Given the description of an element on the screen output the (x, y) to click on. 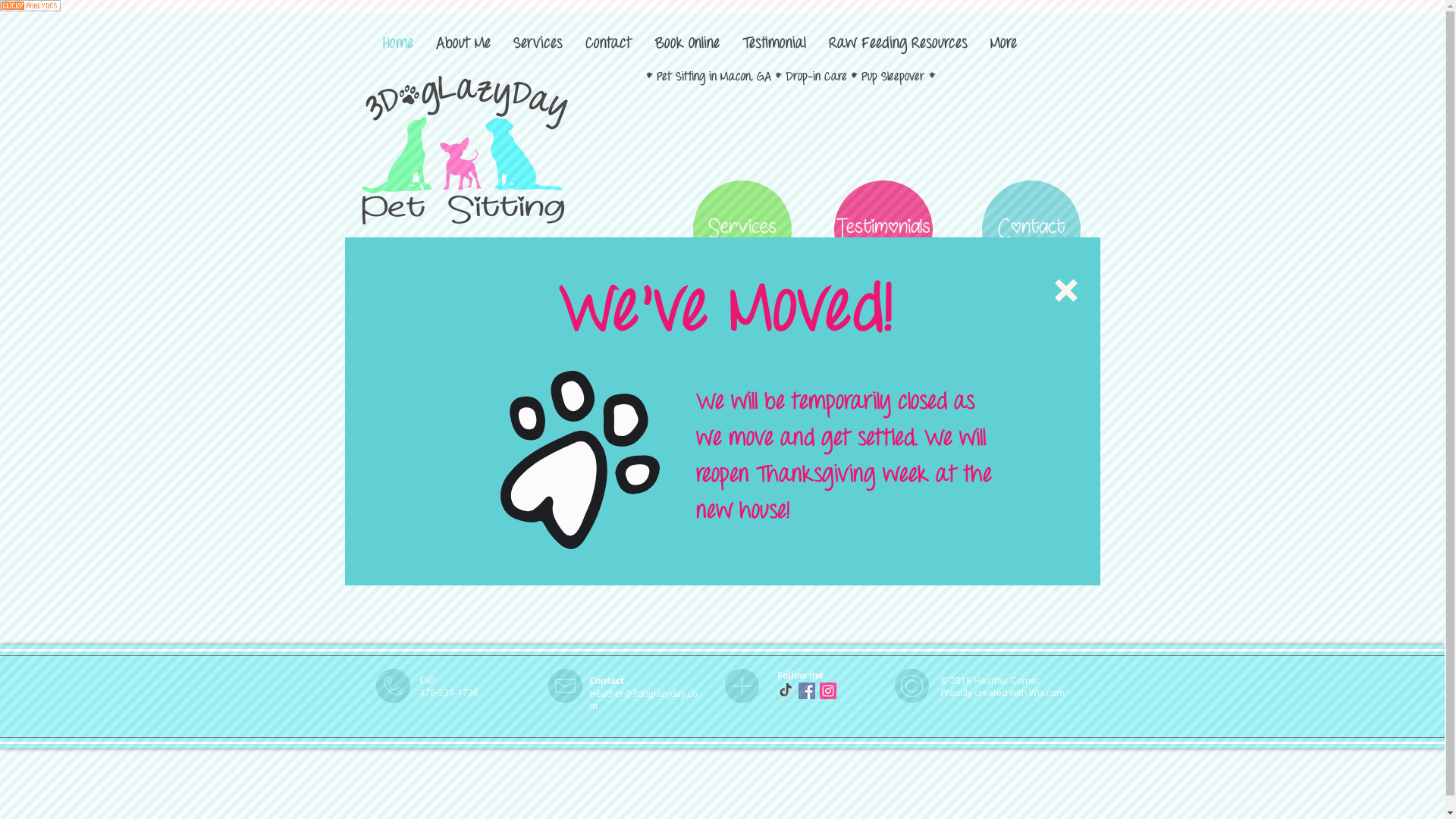
Wix.com Element type: text (1045, 692)
Testimonials Element type: text (883, 229)
Home Element type: text (396, 43)
Testimonial Element type: text (774, 43)
Services Element type: text (742, 229)
About Me Element type: text (463, 43)
Heather@3doglazyday.com Element type: text (642, 699)
Dogs PNGf.png Element type: hover (463, 149)
Contact Element type: text (1030, 229)
Contact Element type: text (607, 43)
Heather and Cora Element type: hover (506, 417)
Raw Feeding Resources Element type: text (898, 43)
Book Online Element type: text (687, 43)
Services Element type: text (538, 43)
Web Analytics Element type: hover (30, 8)
Back to site Element type: hover (1065, 290)
